Given the description of an element on the screen output the (x, y) to click on. 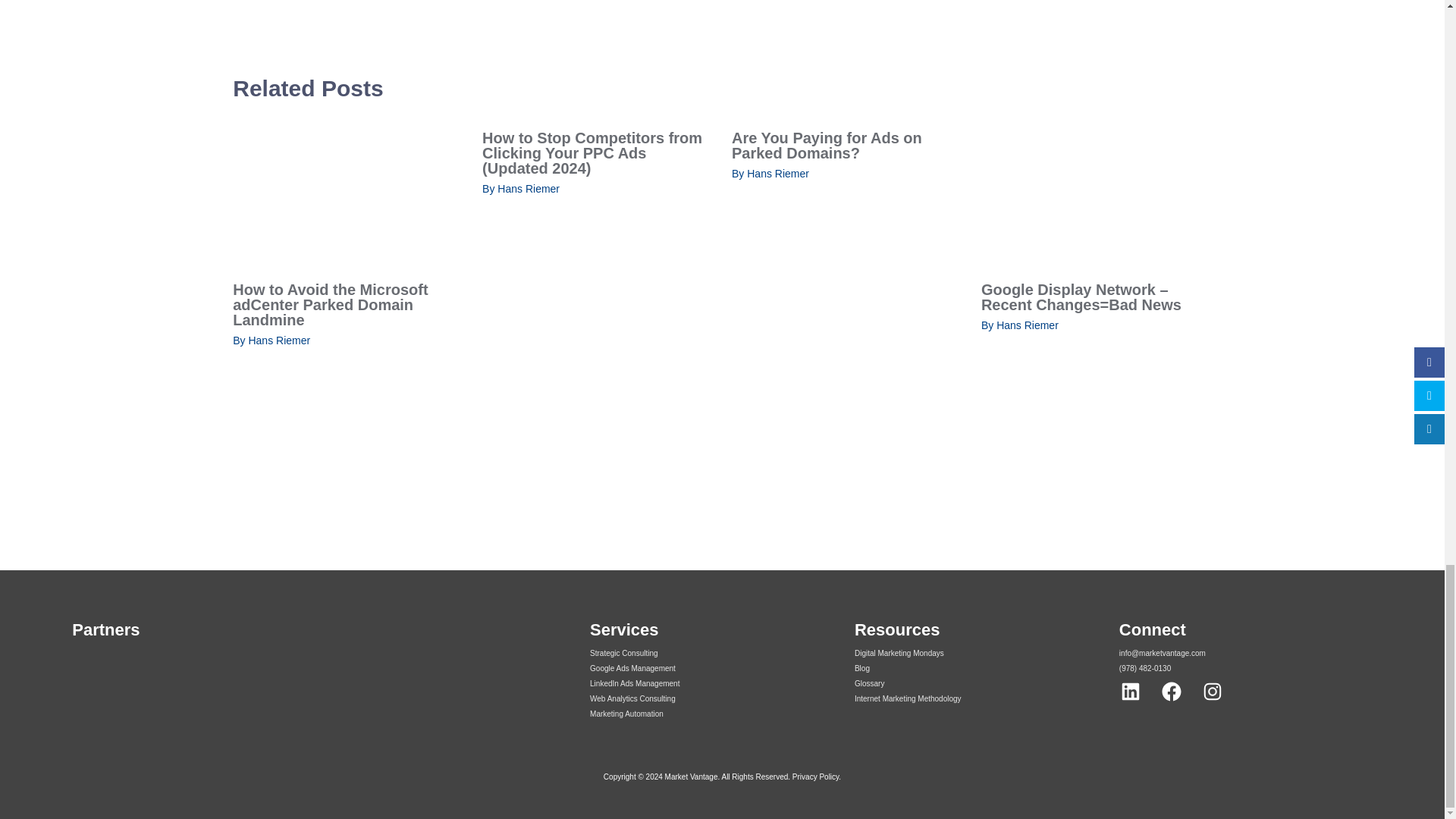
View all posts by Hans Riemer (278, 340)
View all posts by Hans Riemer (777, 173)
View all posts by Hans Riemer (1026, 325)
View all posts by Hans Riemer (528, 188)
